Given the description of an element on the screen output the (x, y) to click on. 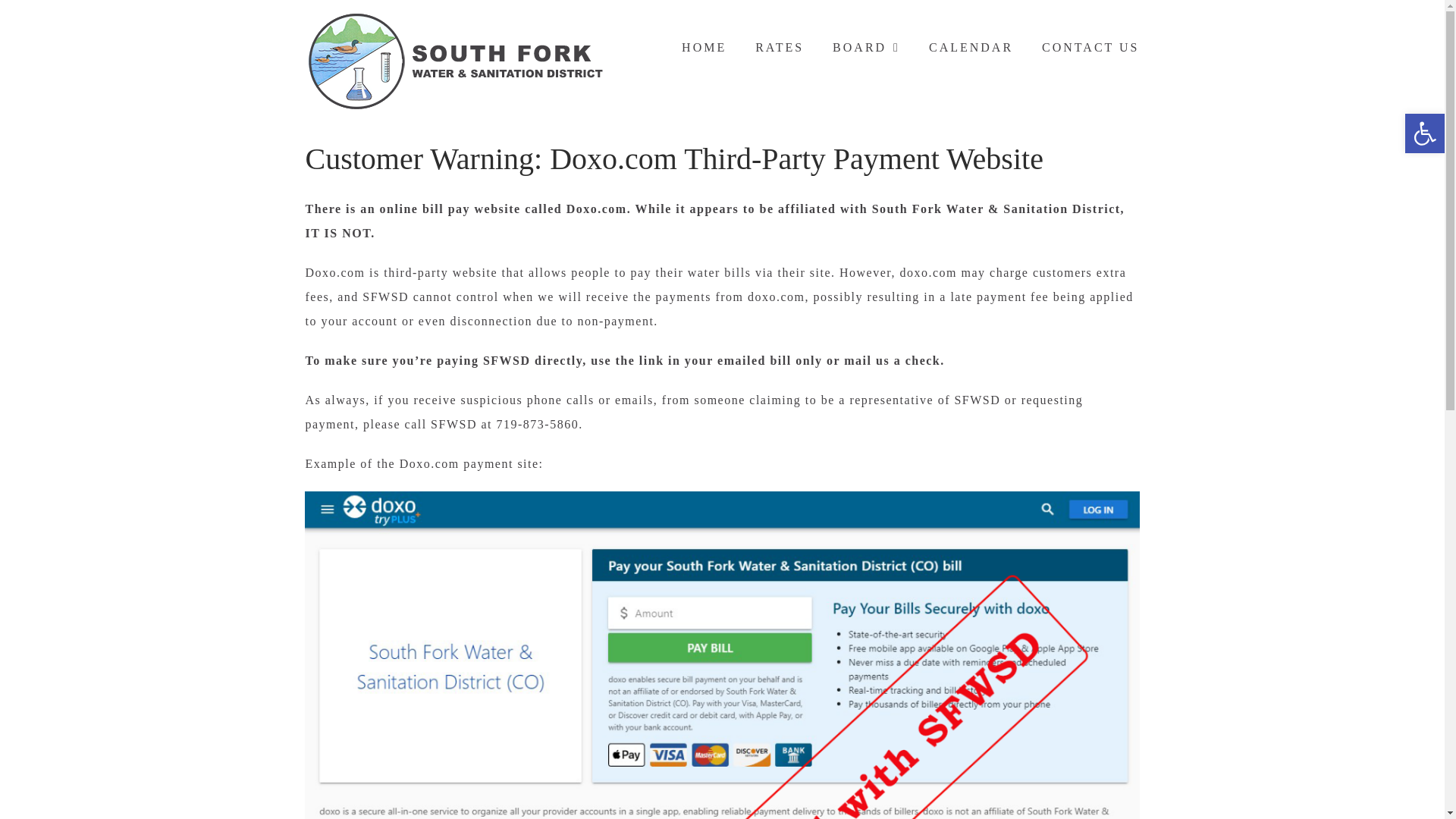
Accessibility Tools (1424, 133)
CONTACT US (1090, 47)
CALENDAR (970, 47)
